Given the description of an element on the screen output the (x, y) to click on. 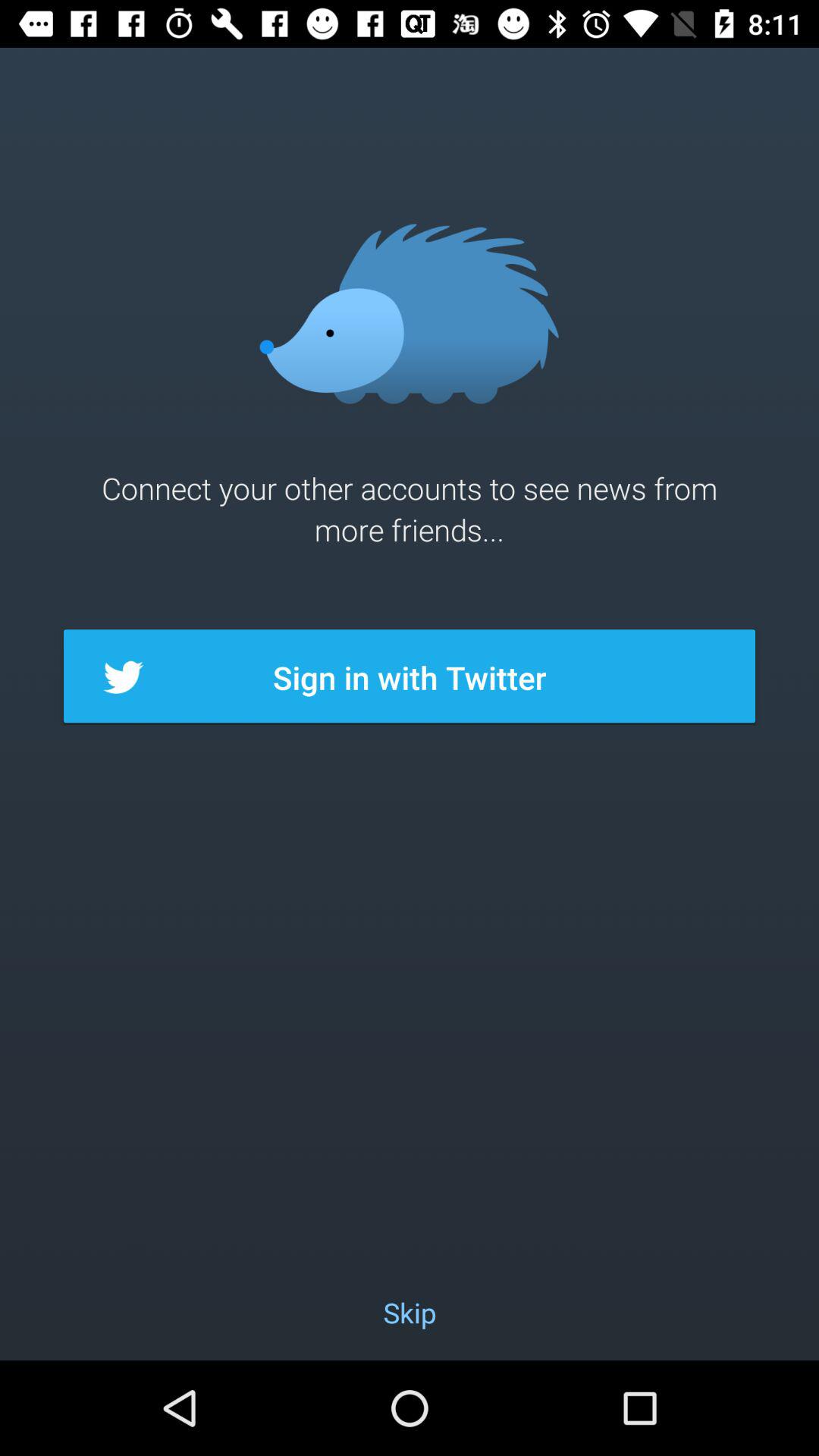
choose the icon above the skip item (409, 677)
